Given the description of an element on the screen output the (x, y) to click on. 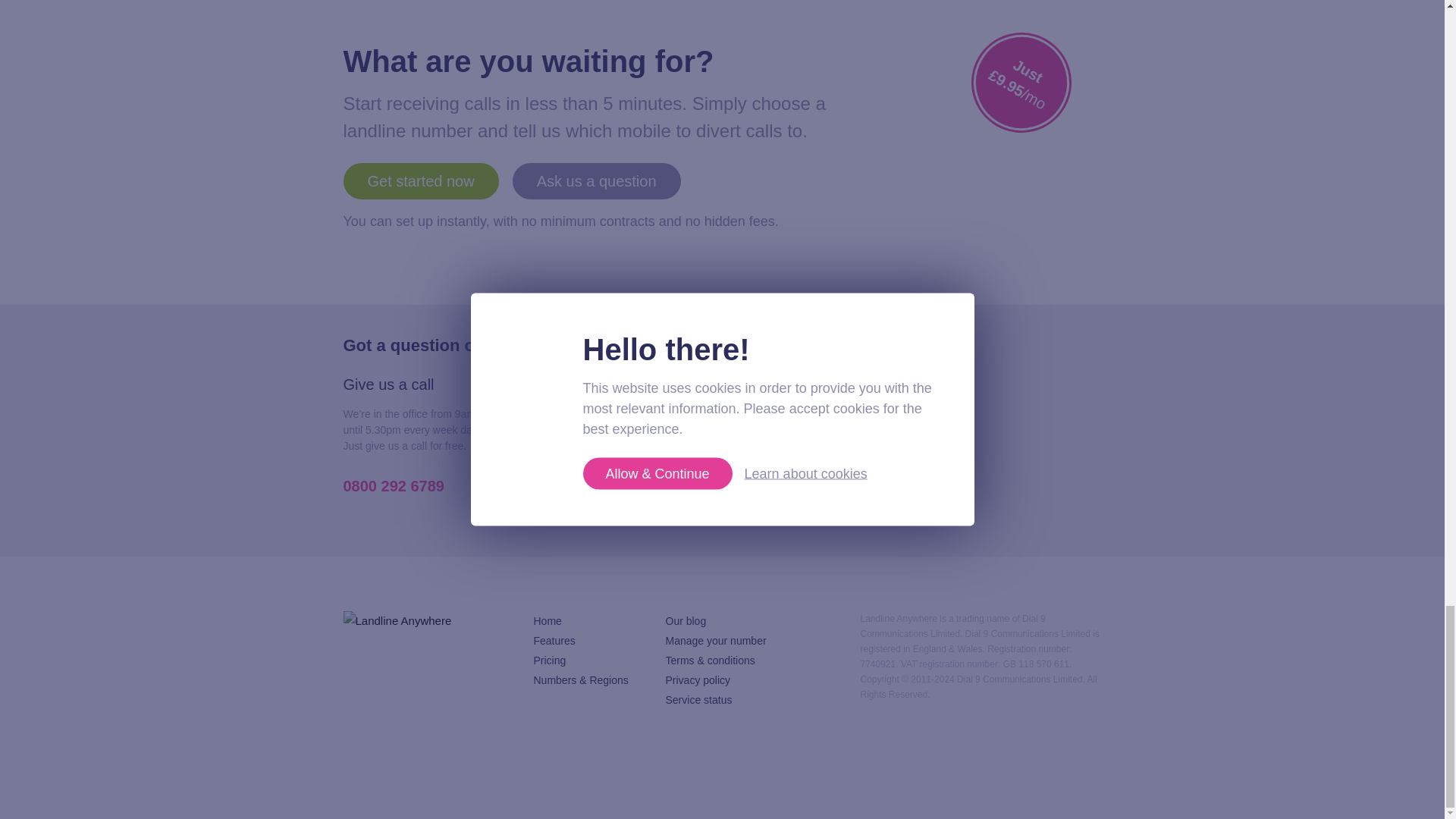
0800 292 6789 (393, 485)
Features (554, 640)
Home (548, 621)
Our blog (685, 621)
Service status (698, 699)
Ask us a question (596, 180)
Send an e-mail (618, 501)
Get started now (419, 180)
Pricing (550, 660)
Privacy policy (697, 680)
